Given the description of an element on the screen output the (x, y) to click on. 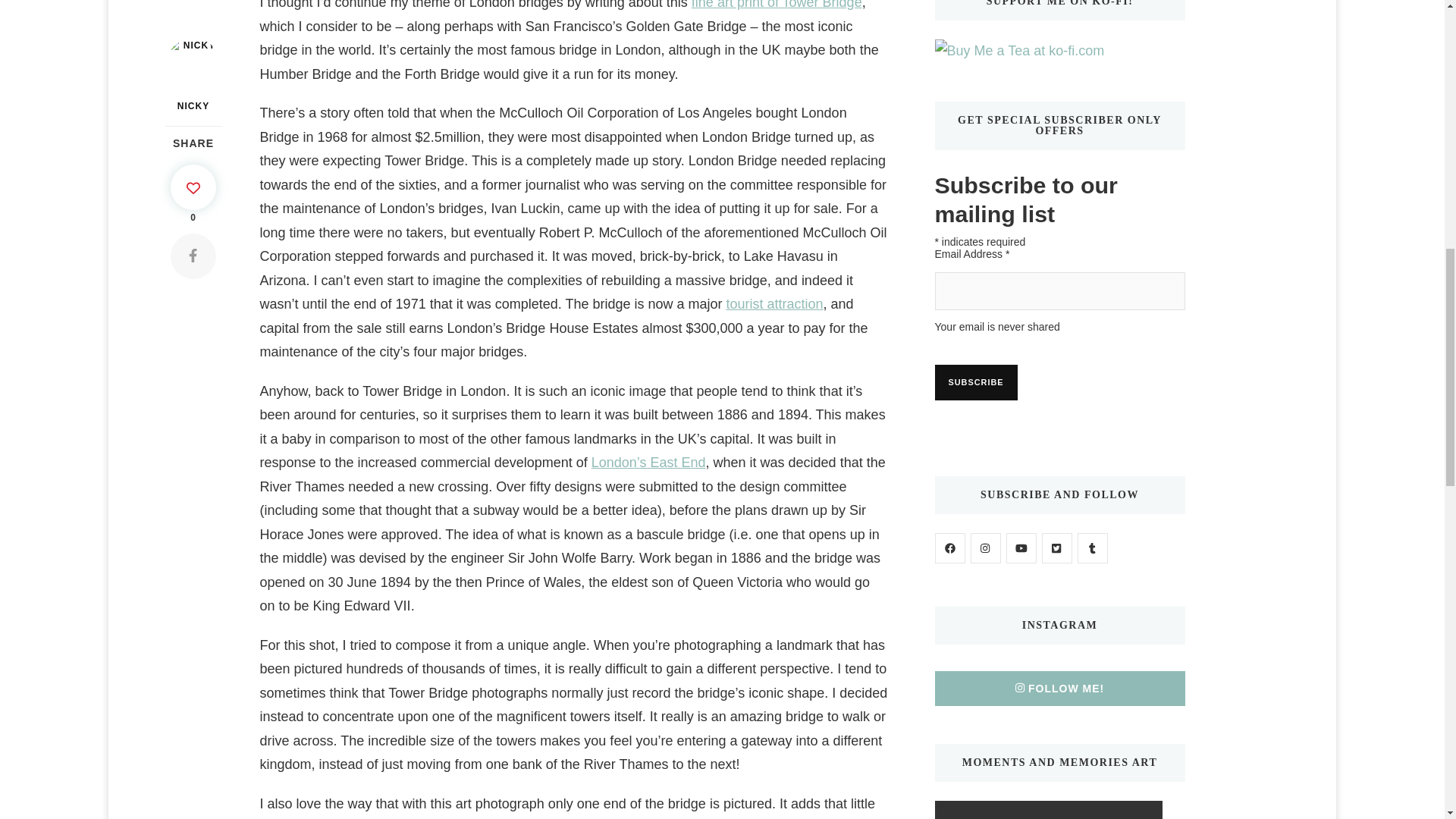
fine art print of Tower Bridge (776, 4)
Tower Bridge Photograph and Fine Art print-Nicky Jameson (776, 4)
London's East End (648, 462)
Subscribe (975, 382)
tourist attraction (775, 304)
